Given the description of an element on the screen output the (x, y) to click on. 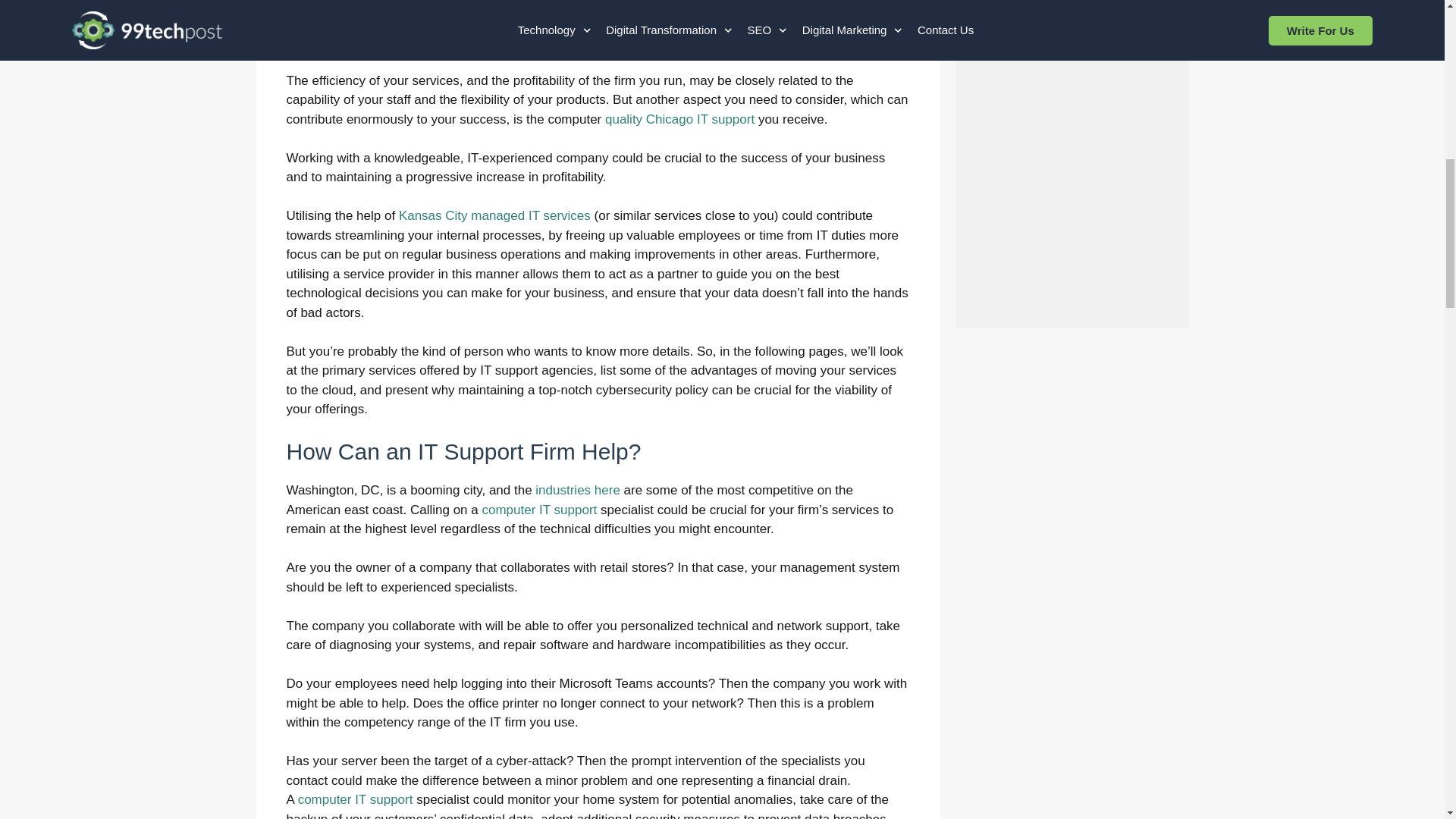
Advertisement (1098, 196)
